Given the description of an element on the screen output the (x, y) to click on. 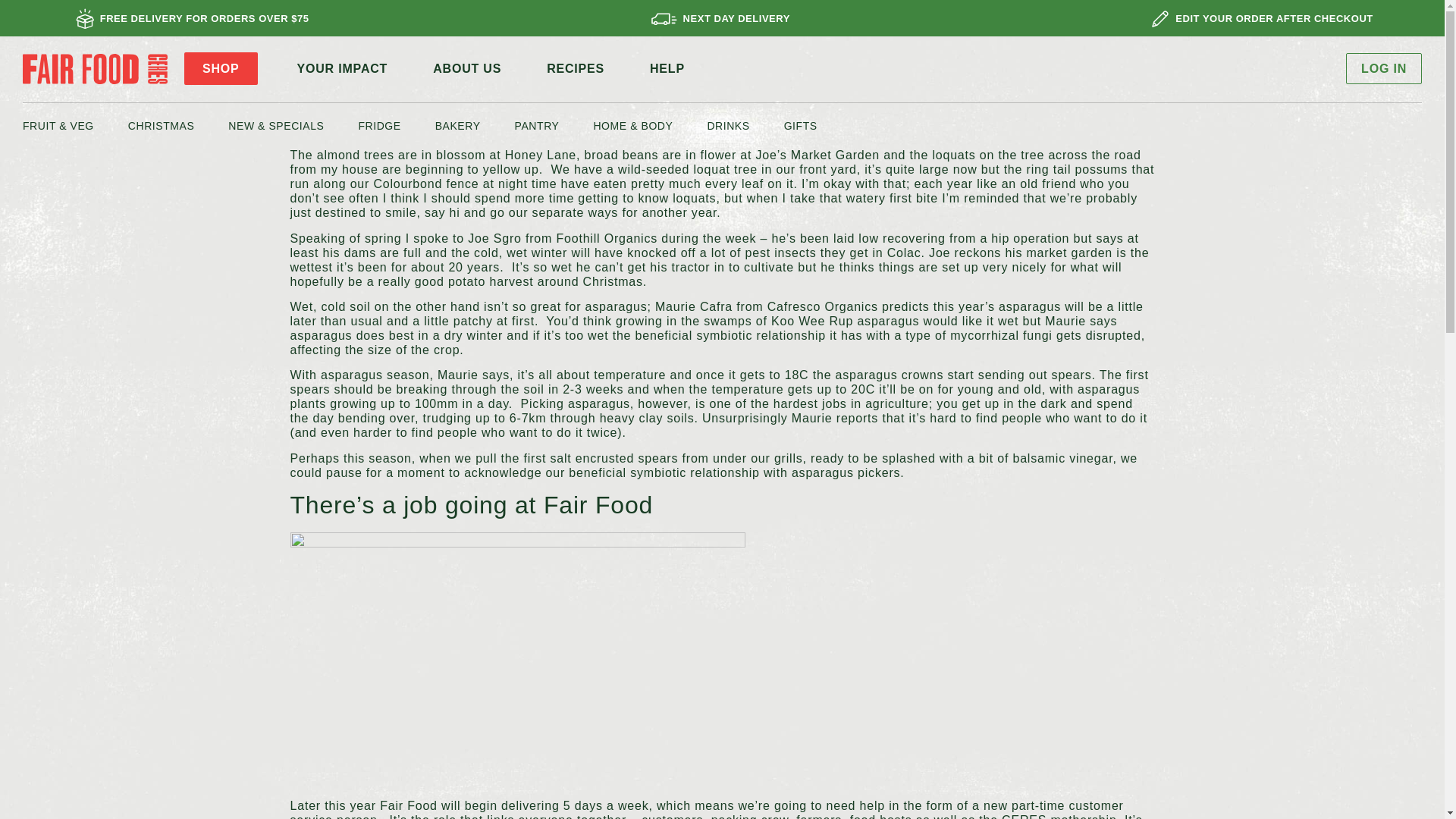
YOUR IMPACT (342, 68)
SHOP (220, 68)
HELP (667, 68)
EDIT YOUR ORDER AFTER CHECKOUT (1273, 18)
ABOUT US (466, 68)
NEXT DAY DELIVERY (736, 18)
RECIPES (575, 68)
